Given the description of an element on the screen output the (x, y) to click on. 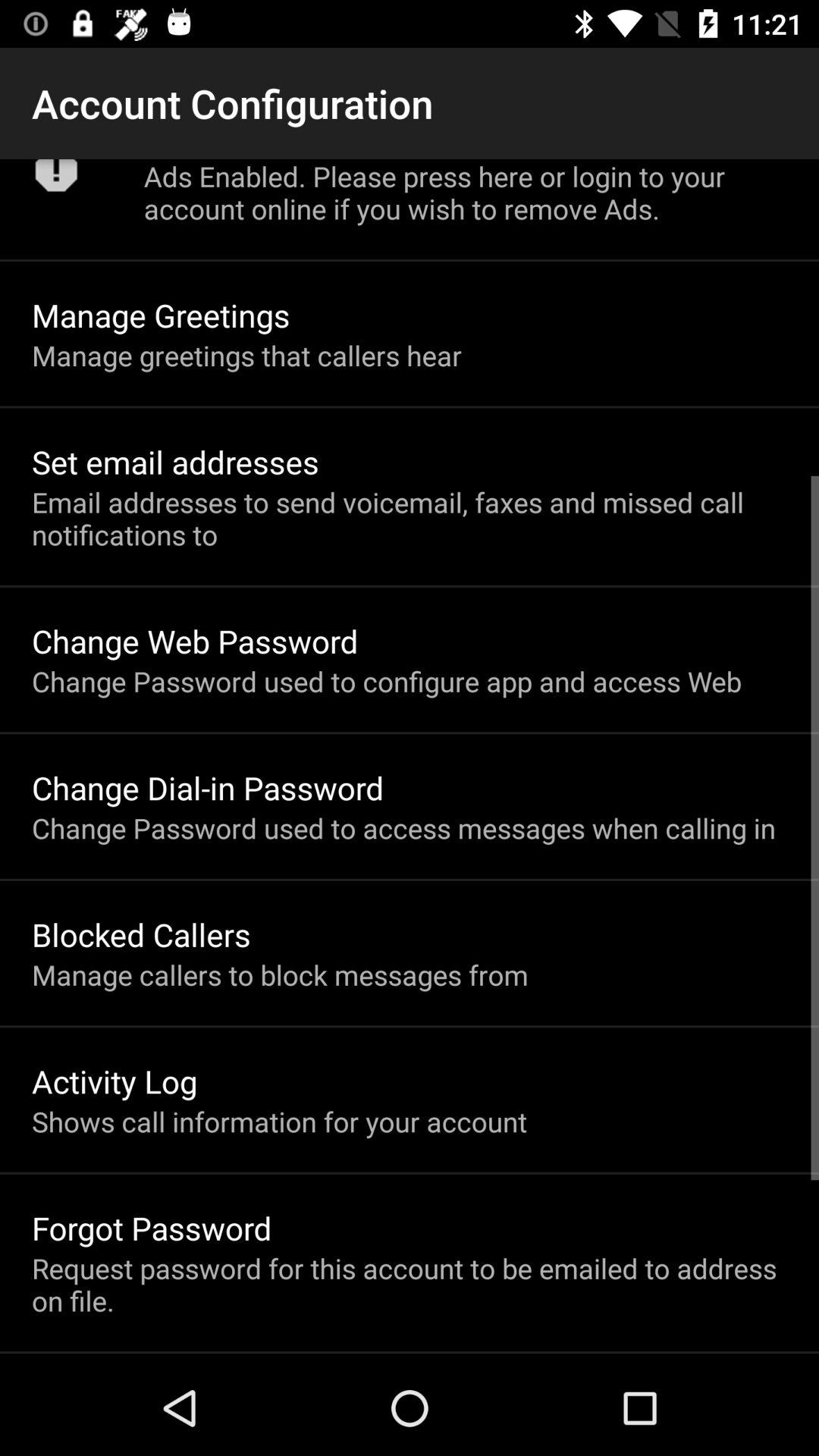
tap the item below forgot password (409, 1284)
